Given the description of an element on the screen output the (x, y) to click on. 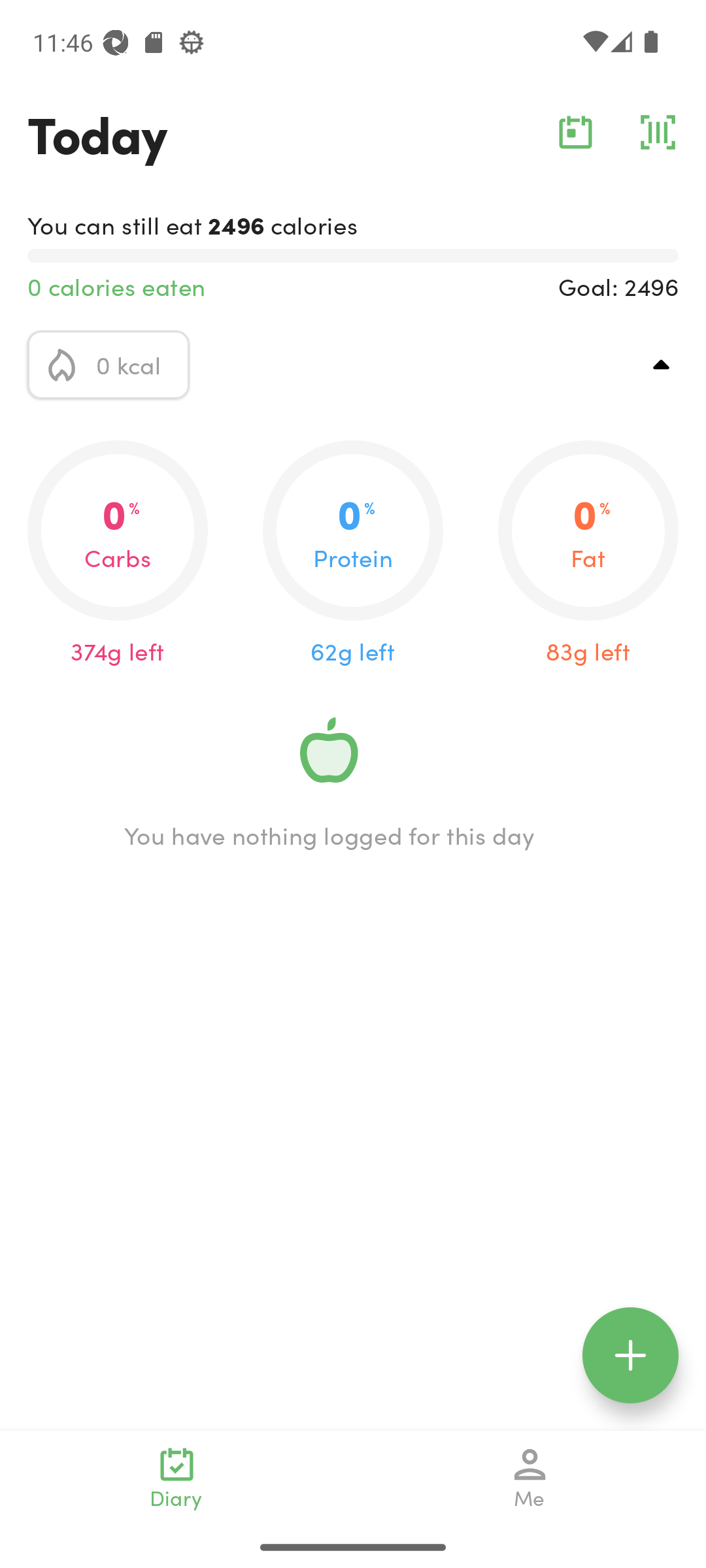
calendar_action (575, 132)
barcode_action (658, 132)
calorie_icon 0 kcal (108, 365)
top_right_action (661, 365)
0.0 0 % Carbs 374g left (117, 553)
0.0 0 % Protein 62g left (352, 553)
0.0 0 % Fat 83g left (588, 553)
floating_action_icon (630, 1355)
Me navigation_icon (529, 1478)
